Given the description of an element on the screen output the (x, y) to click on. 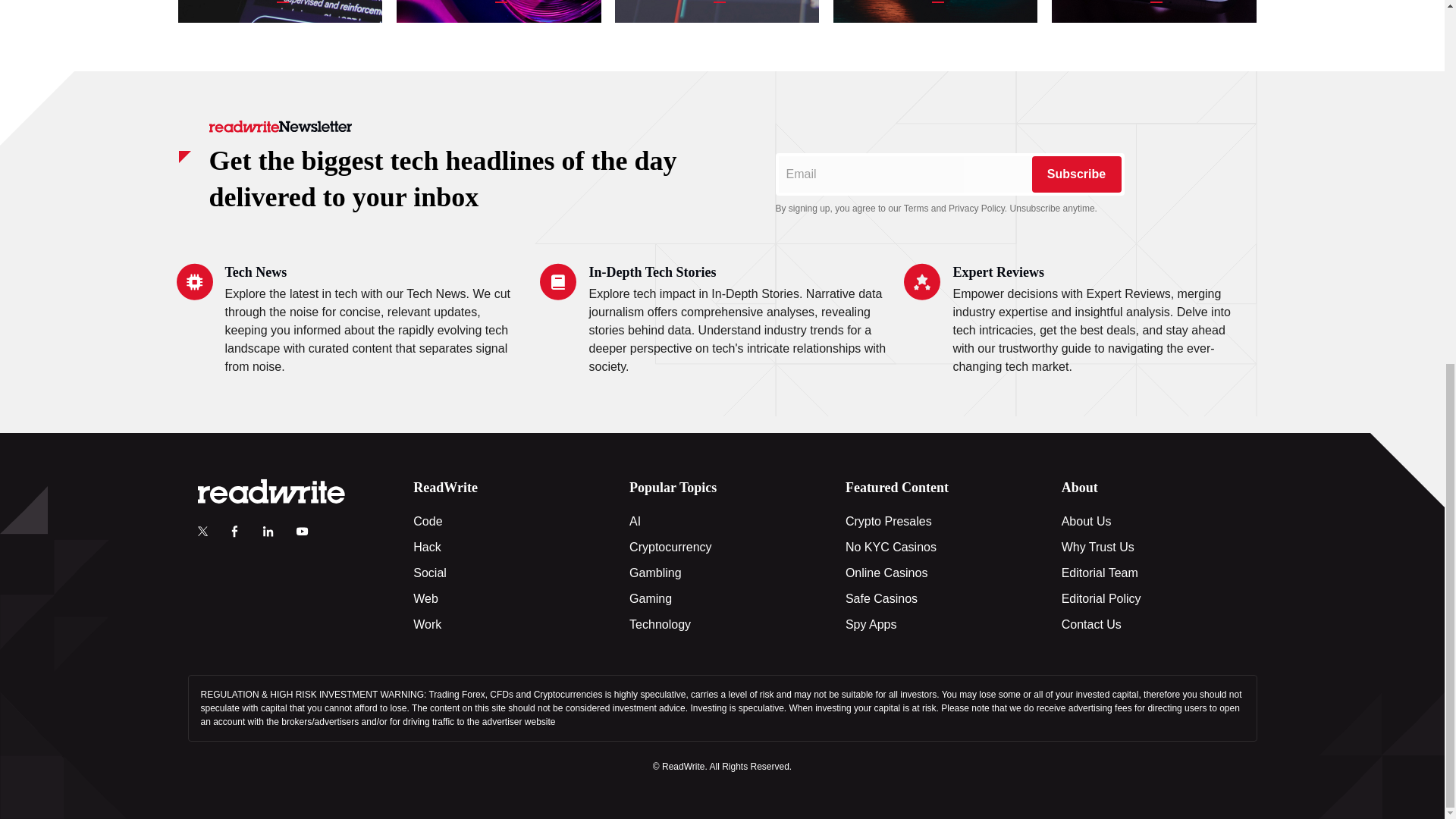
Subscribe (1075, 174)
